Given the description of an element on the screen output the (x, y) to click on. 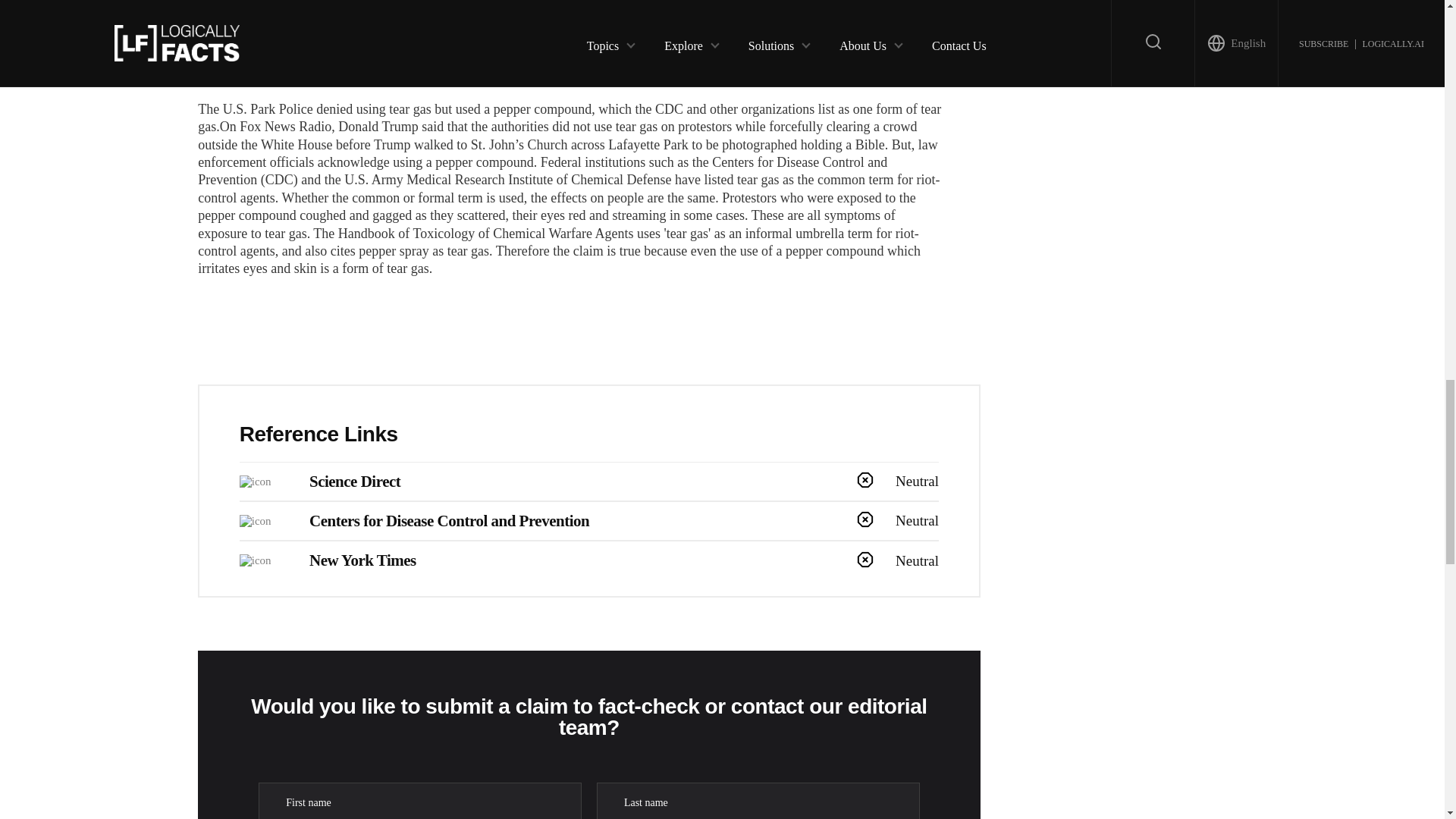
Science Direct (354, 481)
